Given the description of an element on the screen output the (x, y) to click on. 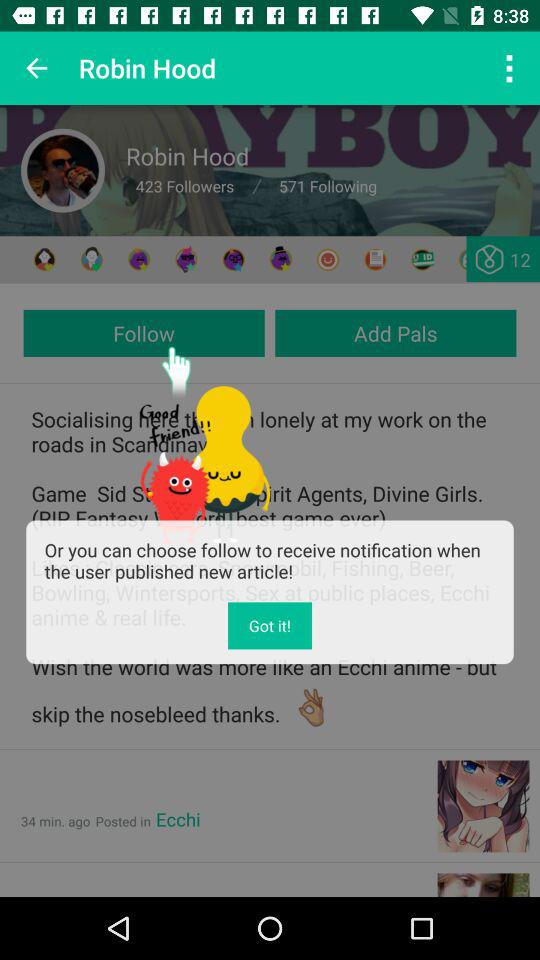
select  which is after 423 followers on the page (256, 185)
go to follow (144, 333)
click on got it (269, 625)
select image which is in the middle of the page (204, 444)
click on the eighth icon (375, 260)
